Given the description of an element on the screen output the (x, y) to click on. 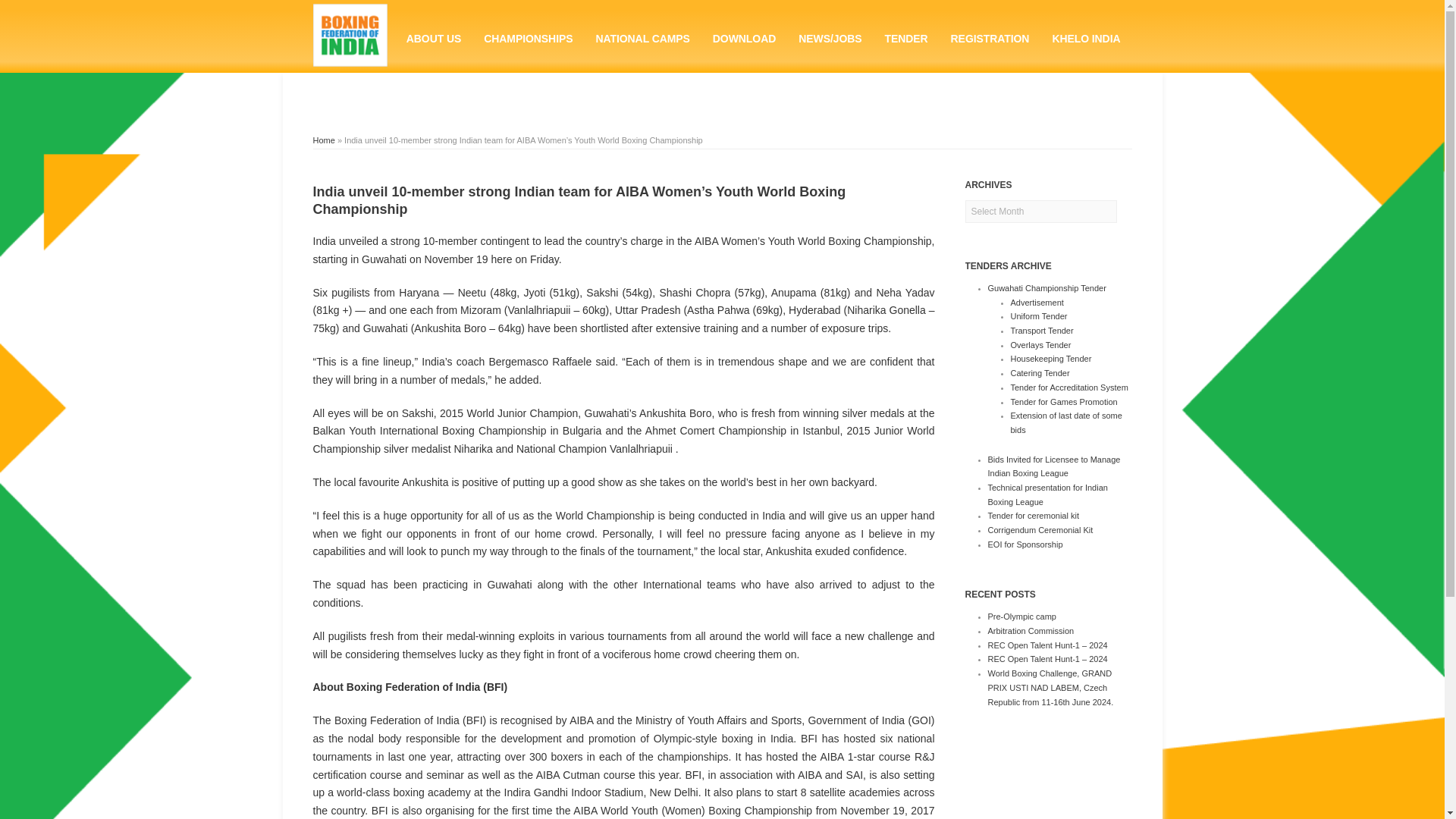
ABOUT US (432, 36)
